Given the description of an element on the screen output the (x, y) to click on. 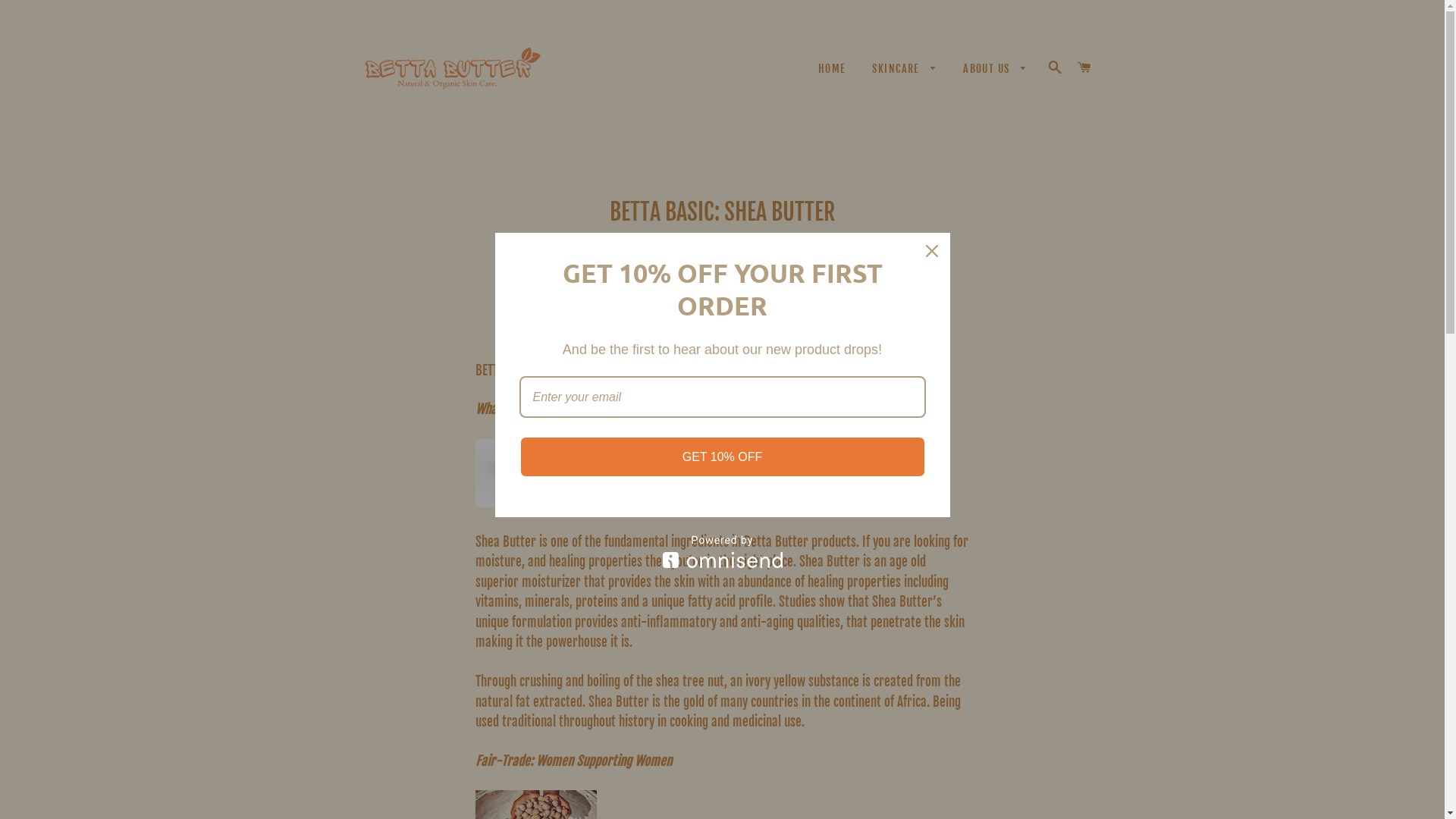
HOME Element type: text (831, 68)
ABOUT US Element type: text (995, 68)
SKINCARE Element type: text (904, 68)
CART Element type: text (1084, 67)
SEARCH Element type: text (1055, 67)
